Given the description of an element on the screen output the (x, y) to click on. 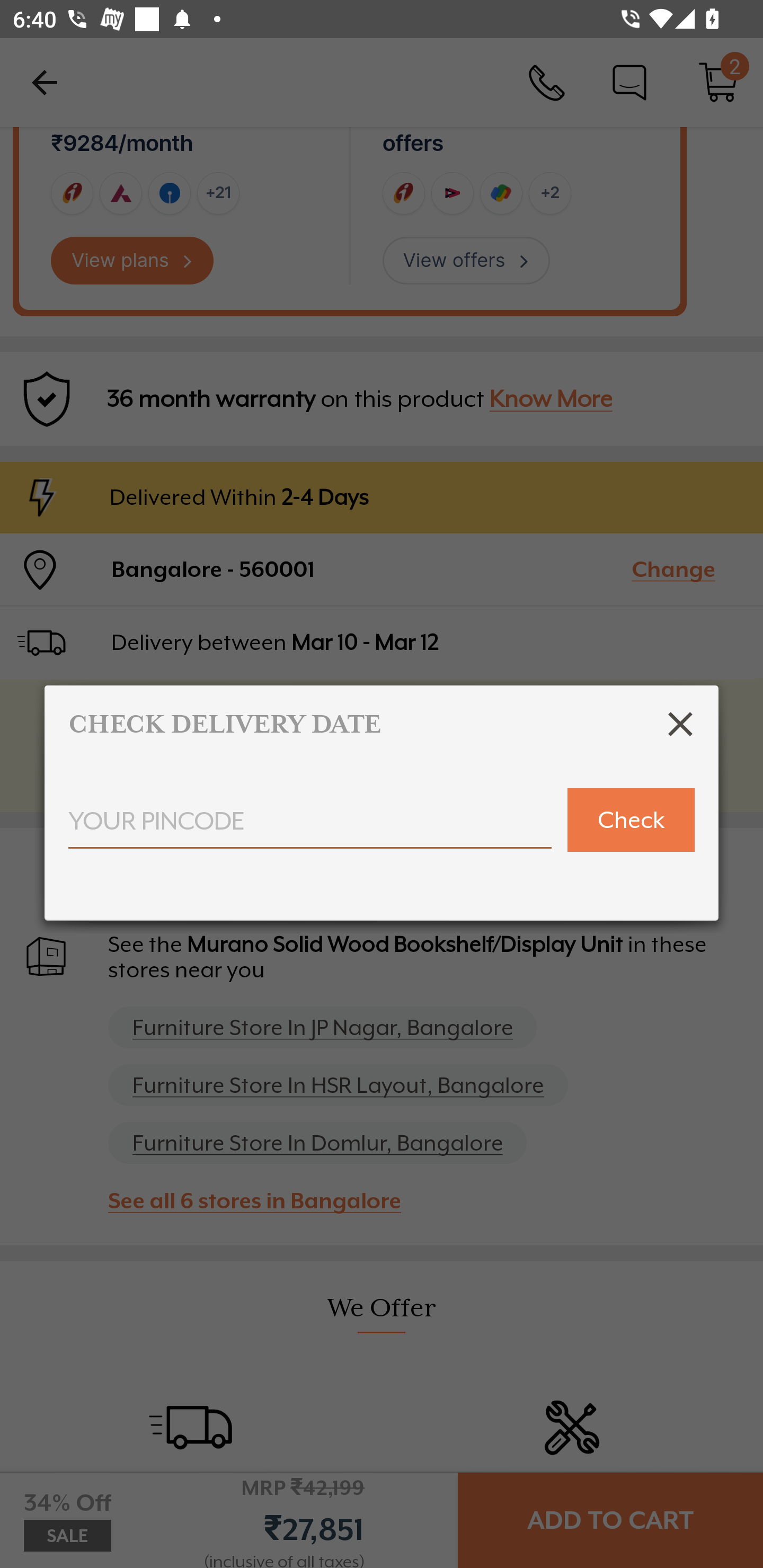
 (680, 723)
Check (630, 819)
YOUR PINCODE (309, 827)
